Given the description of an element on the screen output the (x, y) to click on. 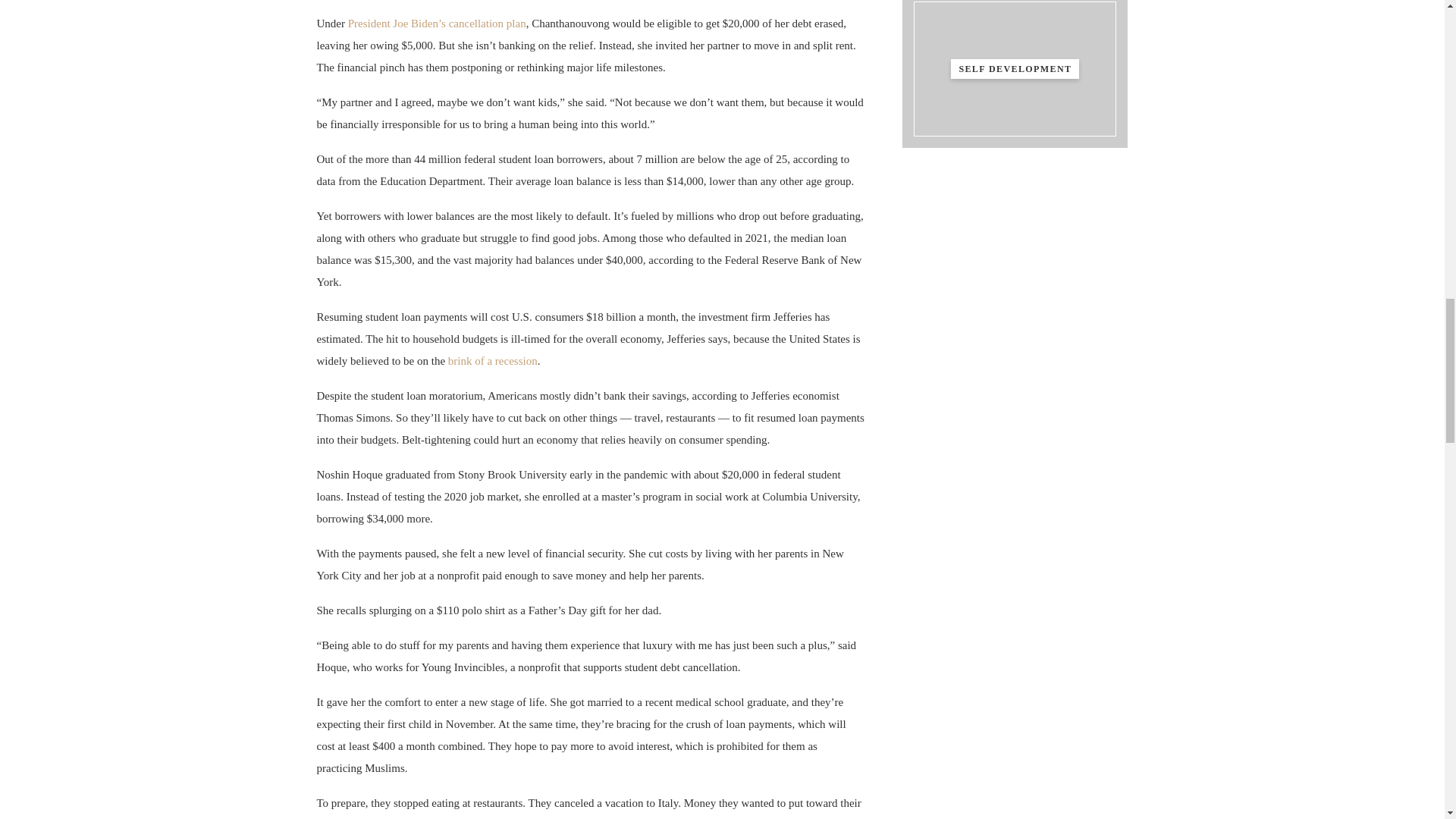
brink of a recession (492, 360)
